Given the description of an element on the screen output the (x, y) to click on. 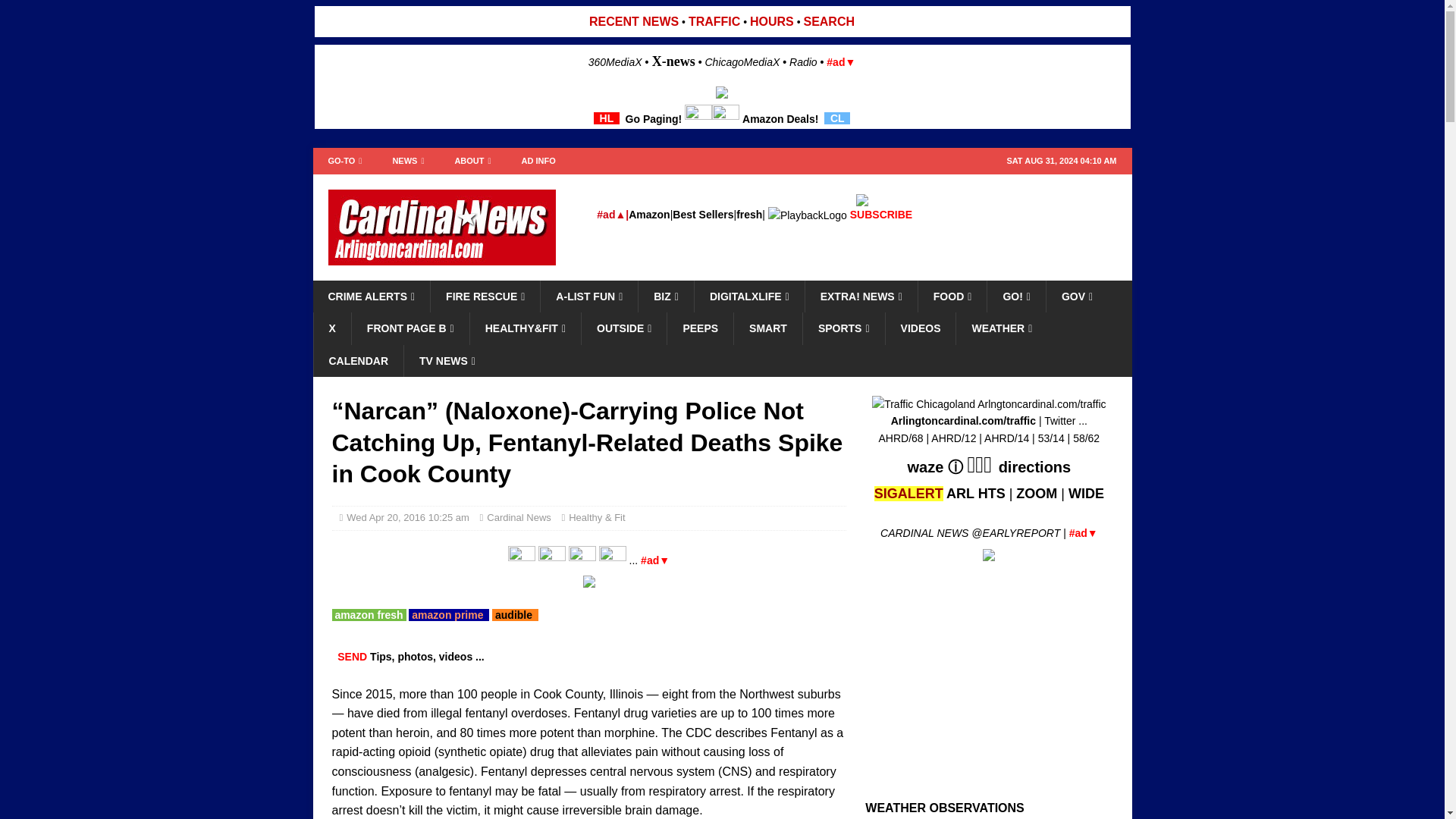
360MediaX (616, 61)
GO-TO (345, 161)
Go Paging! (654, 118)
X-news (673, 61)
  CL   (837, 118)
TRAFFIC (713, 21)
Radio (802, 61)
HOURS (771, 21)
NEWS (408, 161)
ChicagoMediaX (742, 61)
